Given the description of an element on the screen output the (x, y) to click on. 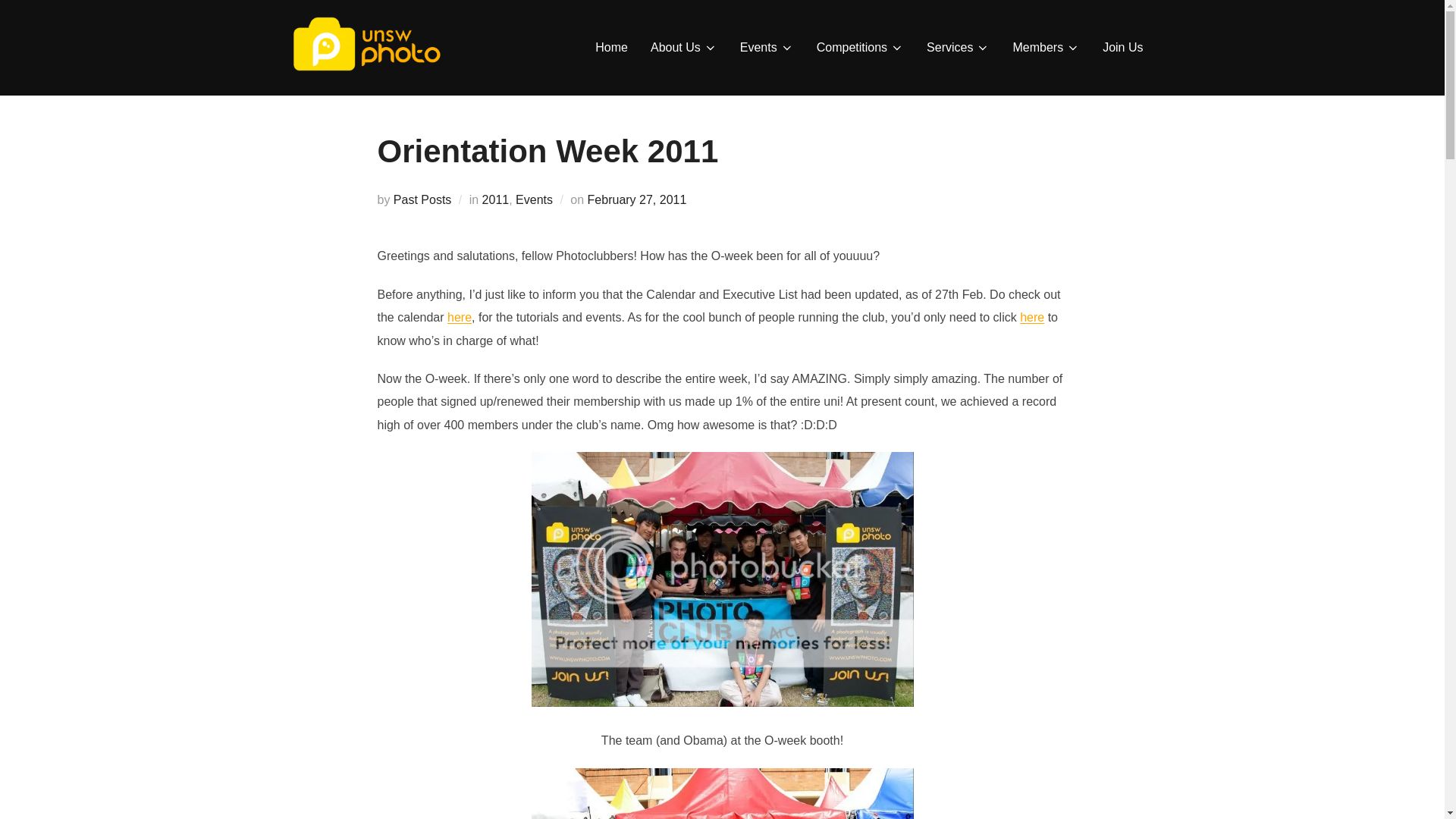
Events (766, 47)
Services (958, 47)
Home (611, 47)
Competitions (860, 47)
About Us (683, 47)
